Given the description of an element on the screen output the (x, y) to click on. 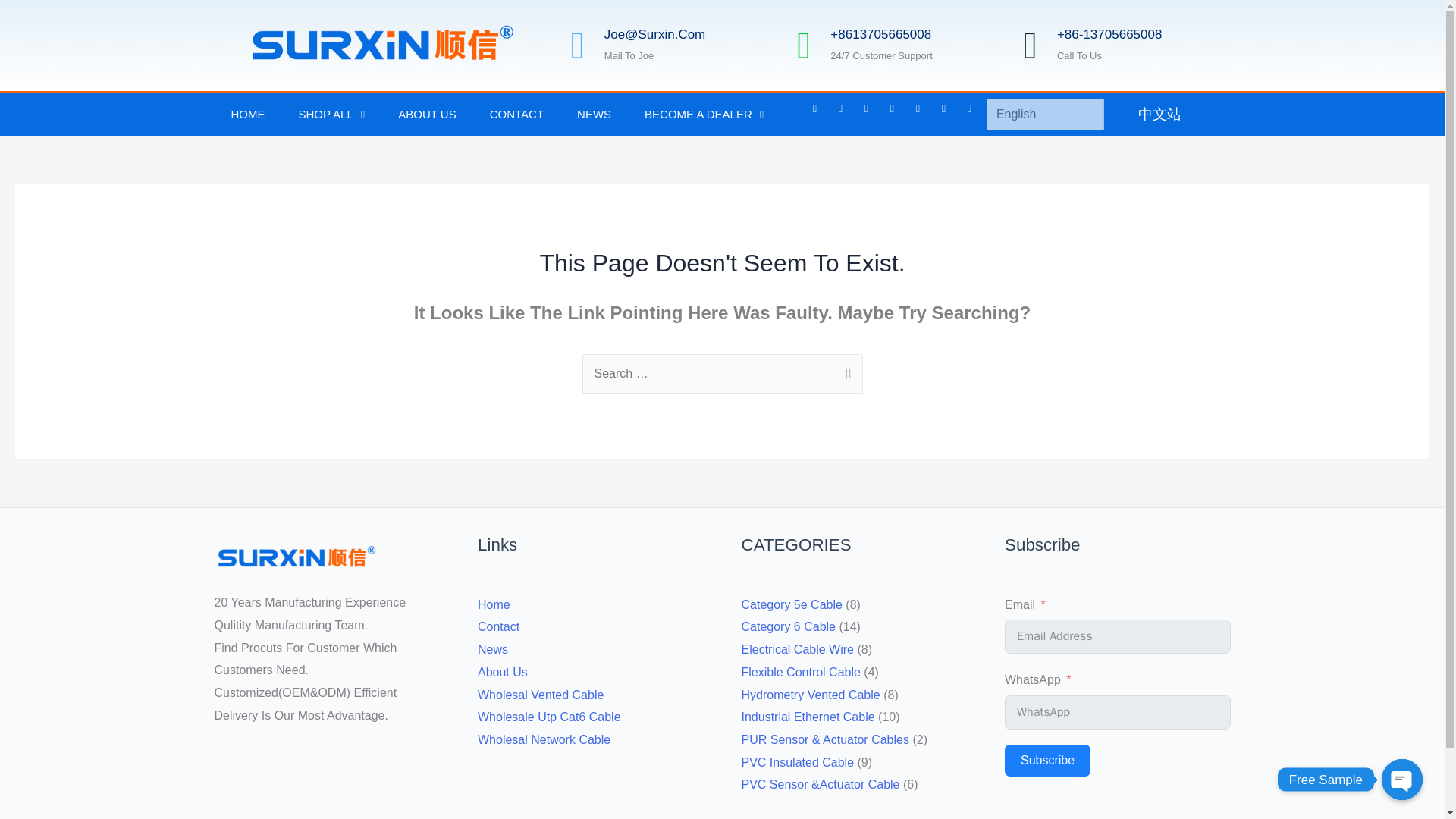
BECOME A DEALER (703, 114)
HOME (247, 114)
SHOP ALL (331, 114)
NEWS (593, 114)
CONTACT (516, 114)
ABOUT US (426, 114)
